Given the description of an element on the screen output the (x, y) to click on. 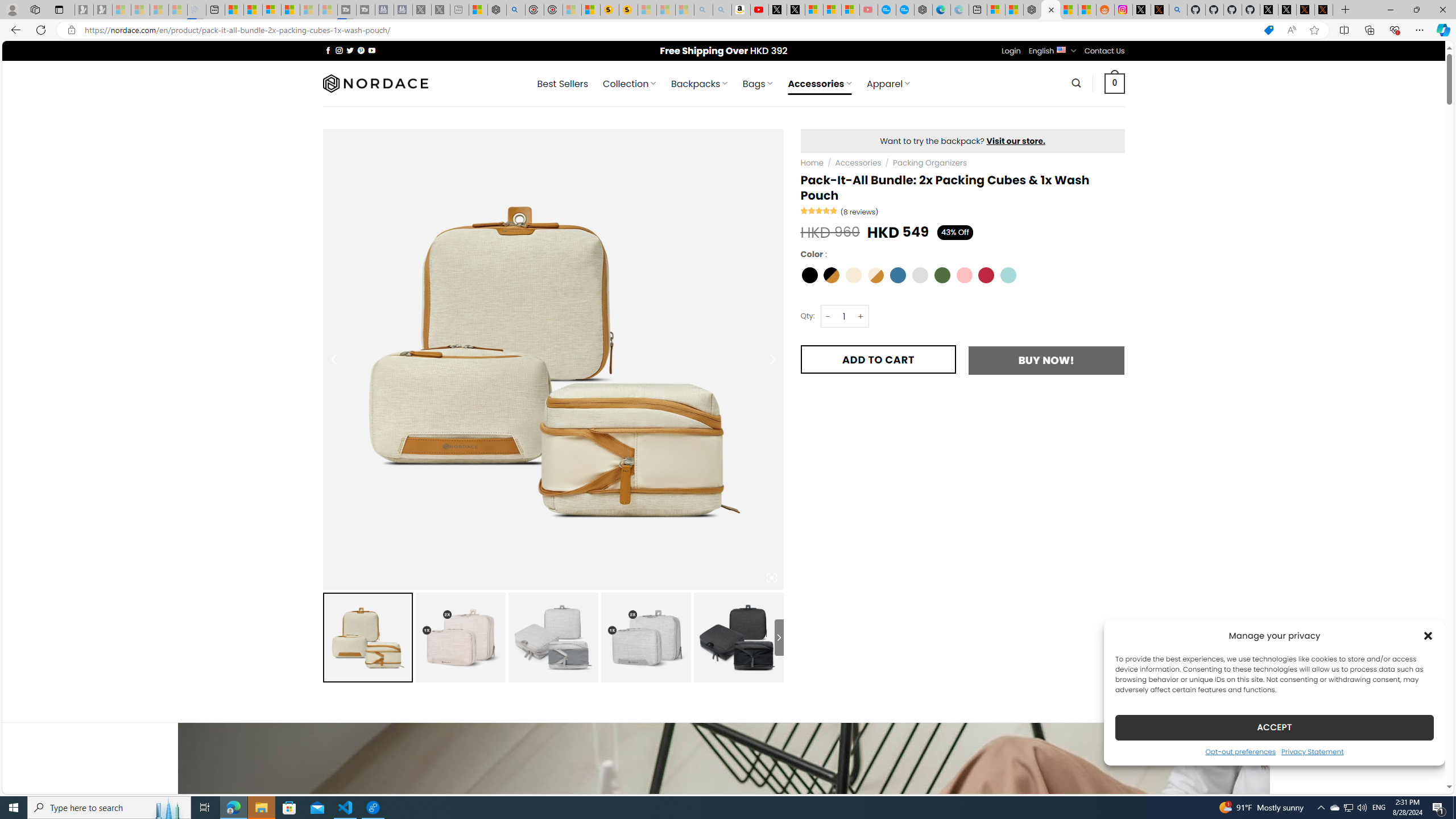
Class: iconic-woothumbs-fullscreen (771, 577)
github - Search (1178, 9)
X (795, 9)
amazon - Search - Sleeping (702, 9)
Nordace - Best Sellers (1032, 9)
ADD TO CART (878, 359)
